Given the description of an element on the screen output the (x, y) to click on. 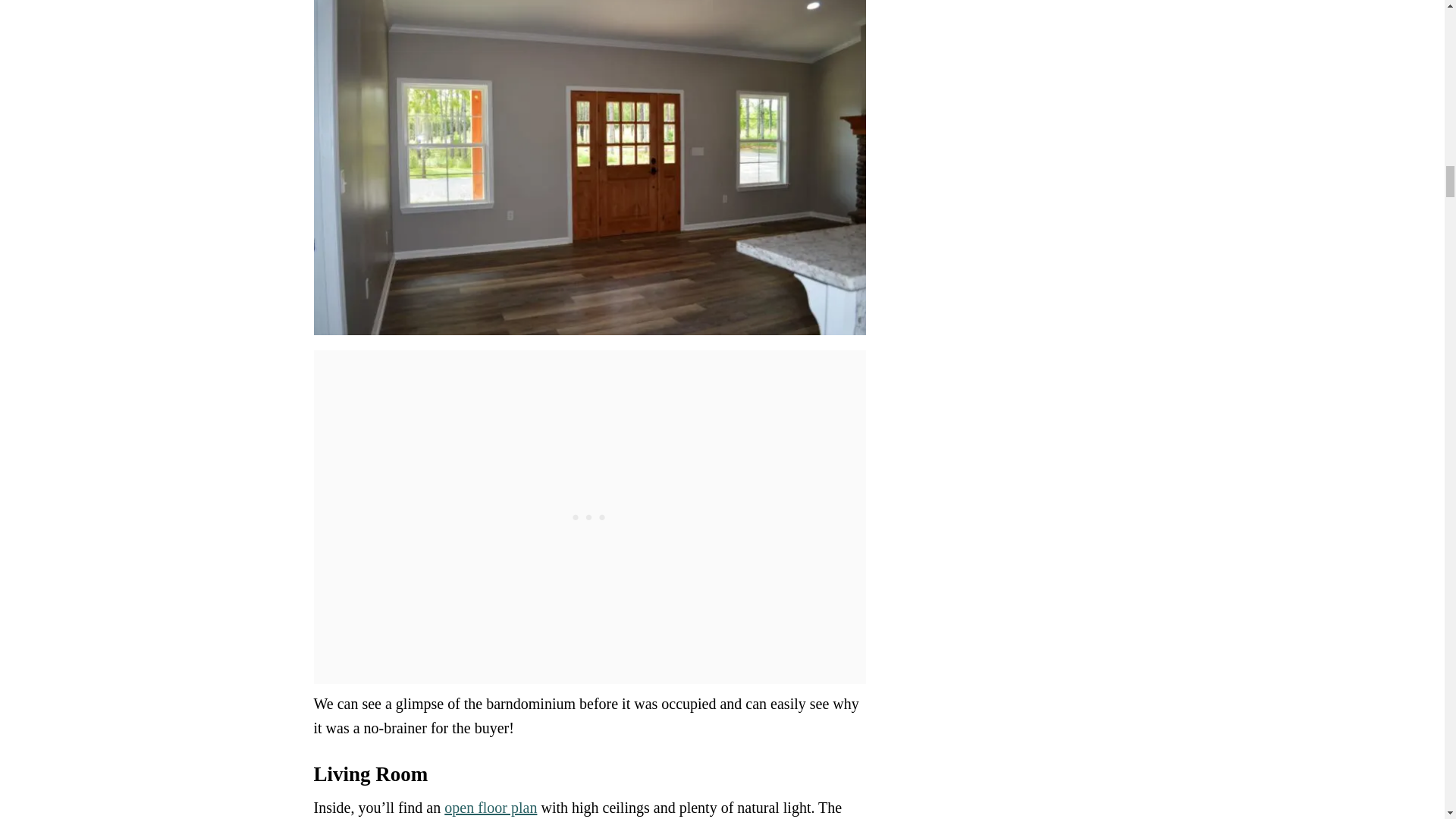
open floor plan (490, 807)
